Given the description of an element on the screen output the (x, y) to click on. 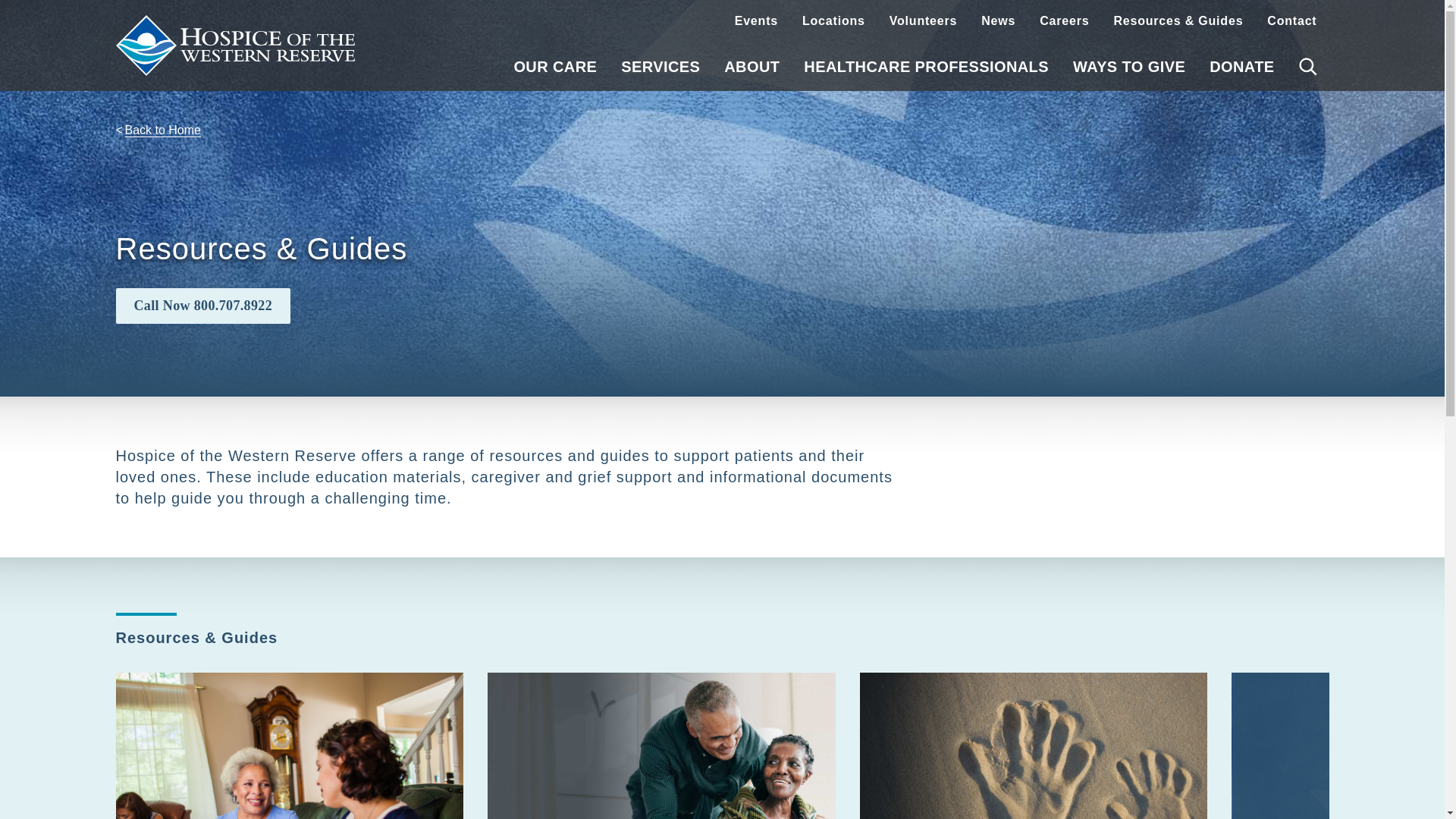
Locations (833, 21)
Contact (1291, 21)
Events (756, 21)
News (998, 21)
ABOUT (751, 66)
HEALTHCARE PROFESSIONALS (926, 66)
OUR CARE (554, 66)
Volunteers (923, 21)
DONATE (1240, 66)
SERVICES (659, 66)
